Given the description of an element on the screen output the (x, y) to click on. 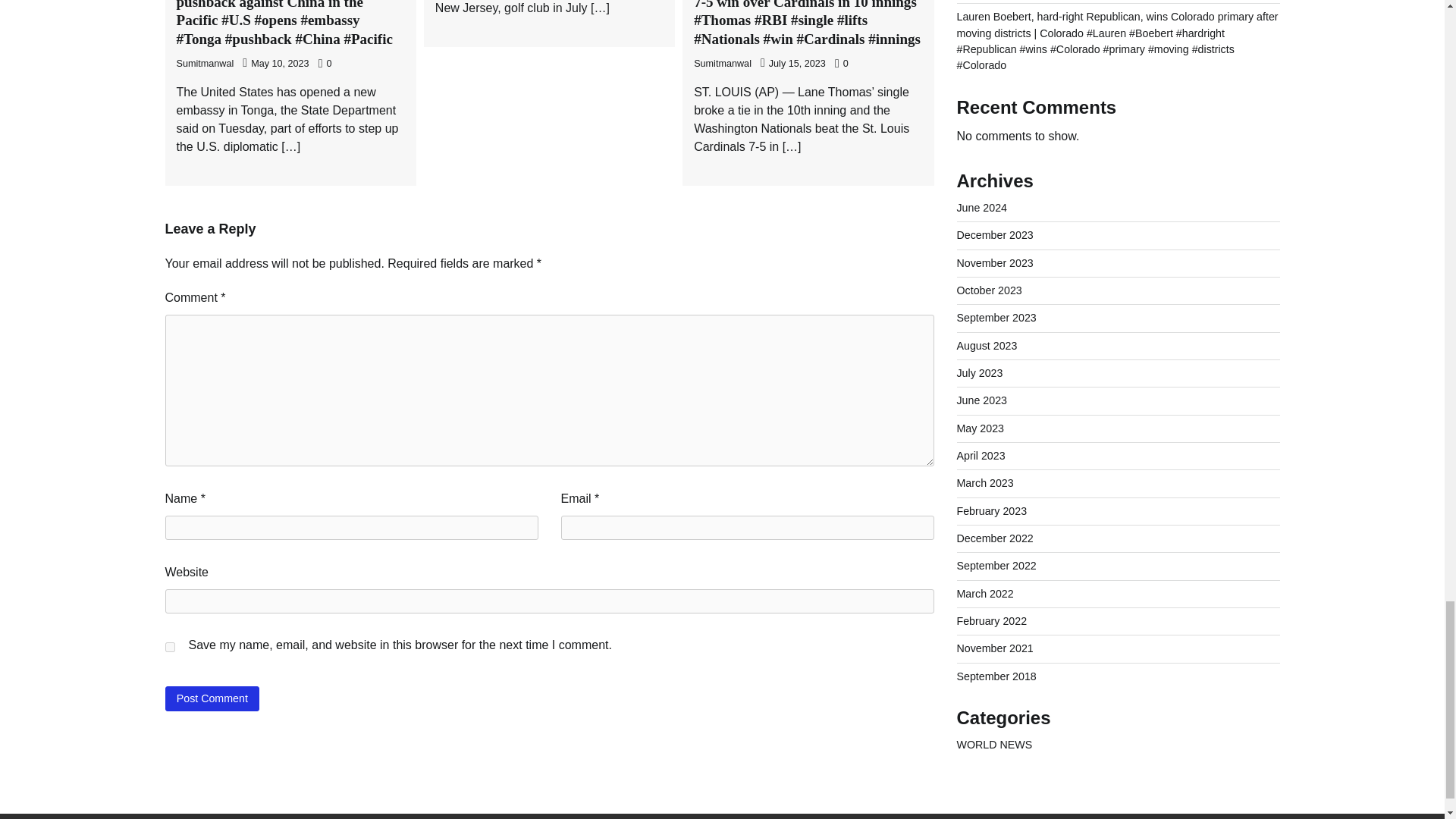
yes (169, 646)
Post Comment (212, 698)
Sumitmanwal (722, 63)
Post Comment (212, 698)
Sumitmanwal (204, 63)
